Given the description of an element on the screen output the (x, y) to click on. 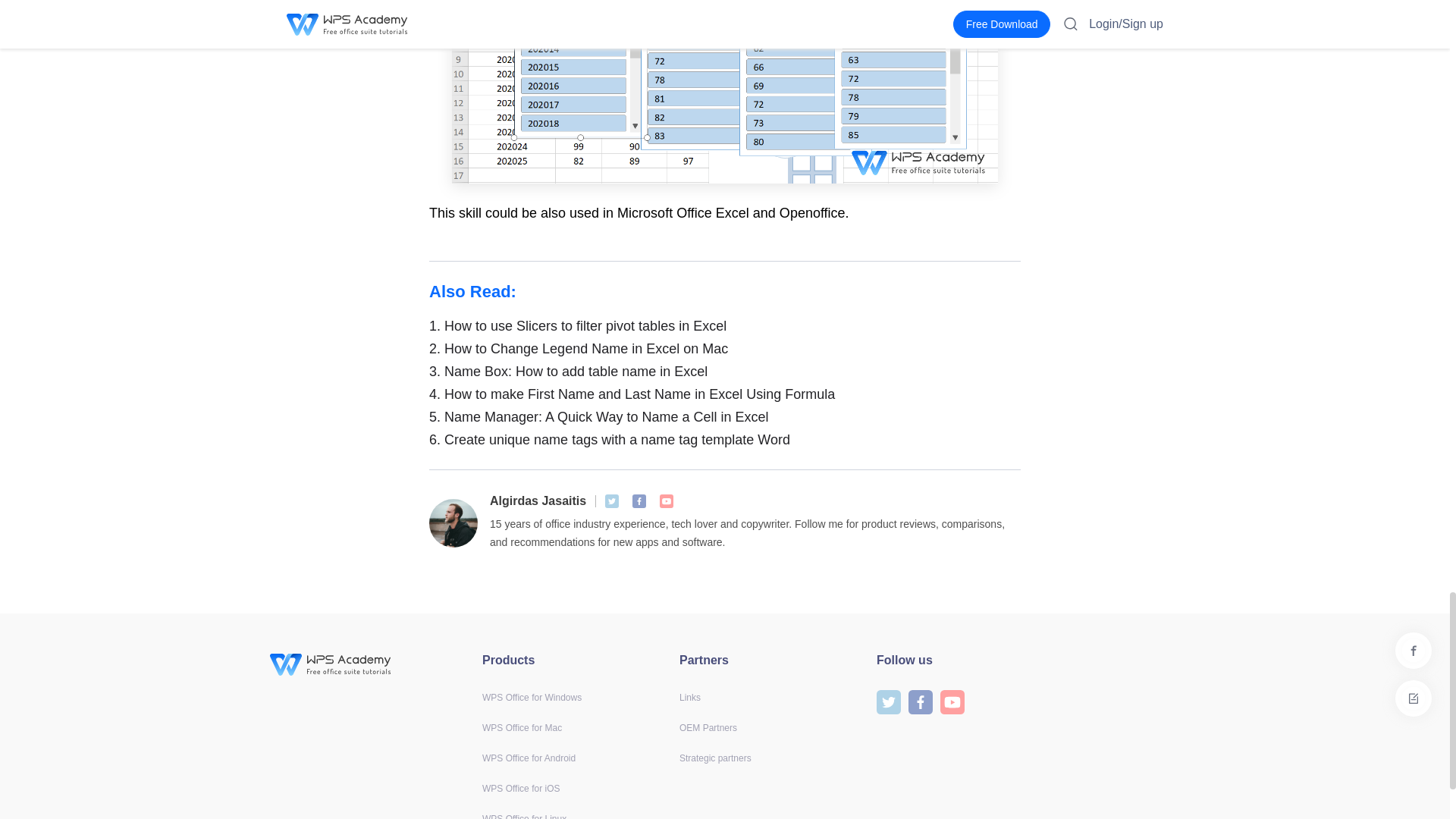
WPS Office for Android (528, 757)
Strategic partners (715, 757)
WPS Office Official Facebook (638, 500)
WPS Office for Windows (530, 697)
WPS Office for Mac (521, 727)
6. Create unique name tags with a name tag template Word (724, 439)
WPS Office Official Twitter (611, 500)
Name Manager: A Quick Way to Name a Cell in Excel (724, 416)
WPS Office for Linux (523, 816)
Name Box: How to add table name in Excel (724, 371)
1. How to use Slicers to filter pivot tables in Excel (724, 325)
How to Change Legend Name in Excel on Mac (724, 348)
How to use Slicers to filter pivot tables in Excel (724, 325)
5. Name Manager: A Quick Way to Name a Cell in Excel (724, 416)
